Given the description of an element on the screen output the (x, y) to click on. 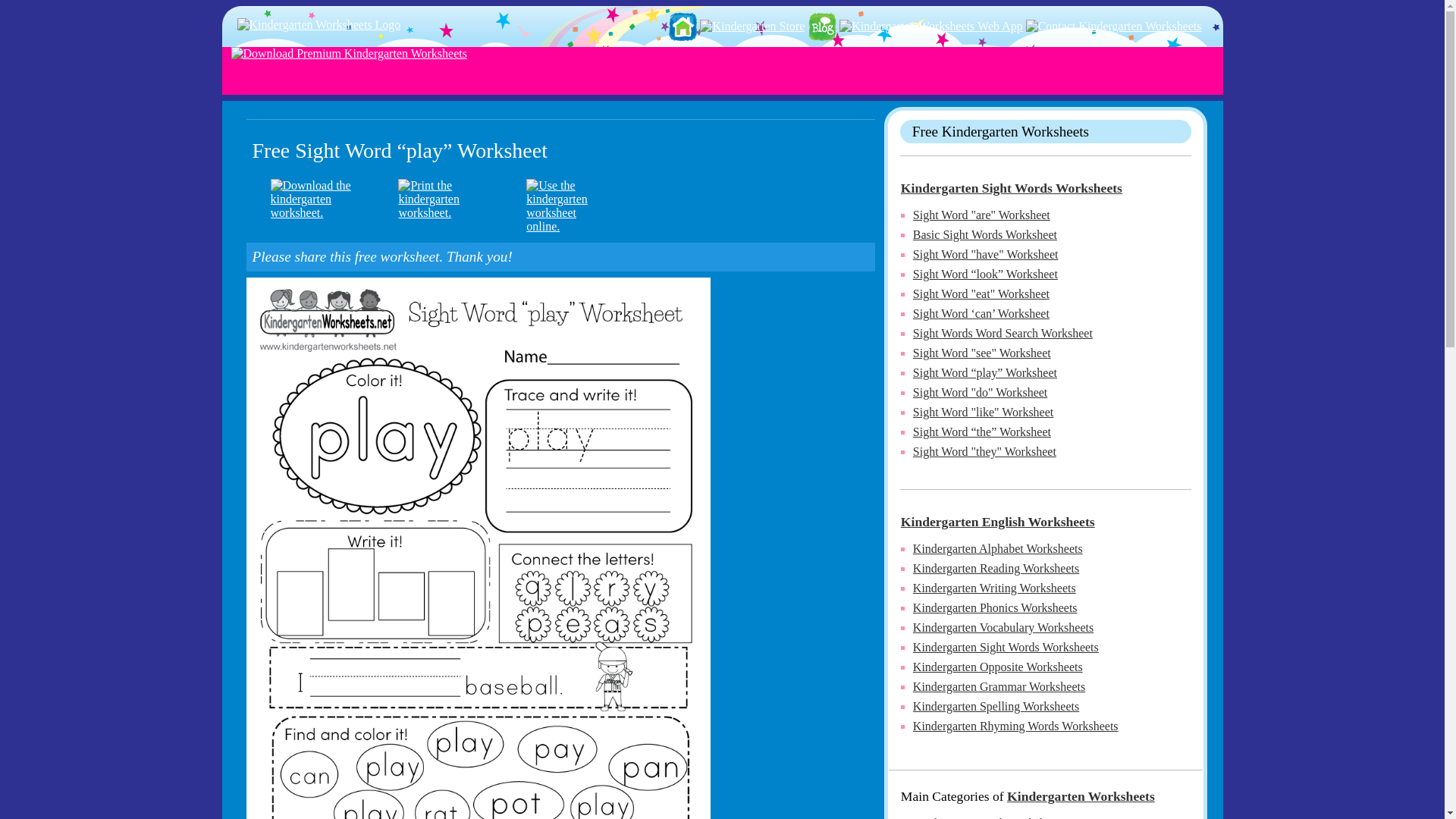
Basic Sight Words Worksheet (984, 234)
Kindergarten Sight Words Worksheets (1011, 187)
Sight Word "are" Worksheet (980, 214)
Kindergarten Reading Worksheets (995, 567)
Kindergarten Opposite Worksheets (997, 666)
Kindergarten Rhyming Words Worksheets (1015, 725)
Sight Word "do" Worksheet (979, 391)
Kindergarten Sight Words Worksheets (1005, 646)
Sight Word "like" Worksheet (982, 411)
Kindergarten Math Worksheets (988, 817)
